Given the description of an element on the screen output the (x, y) to click on. 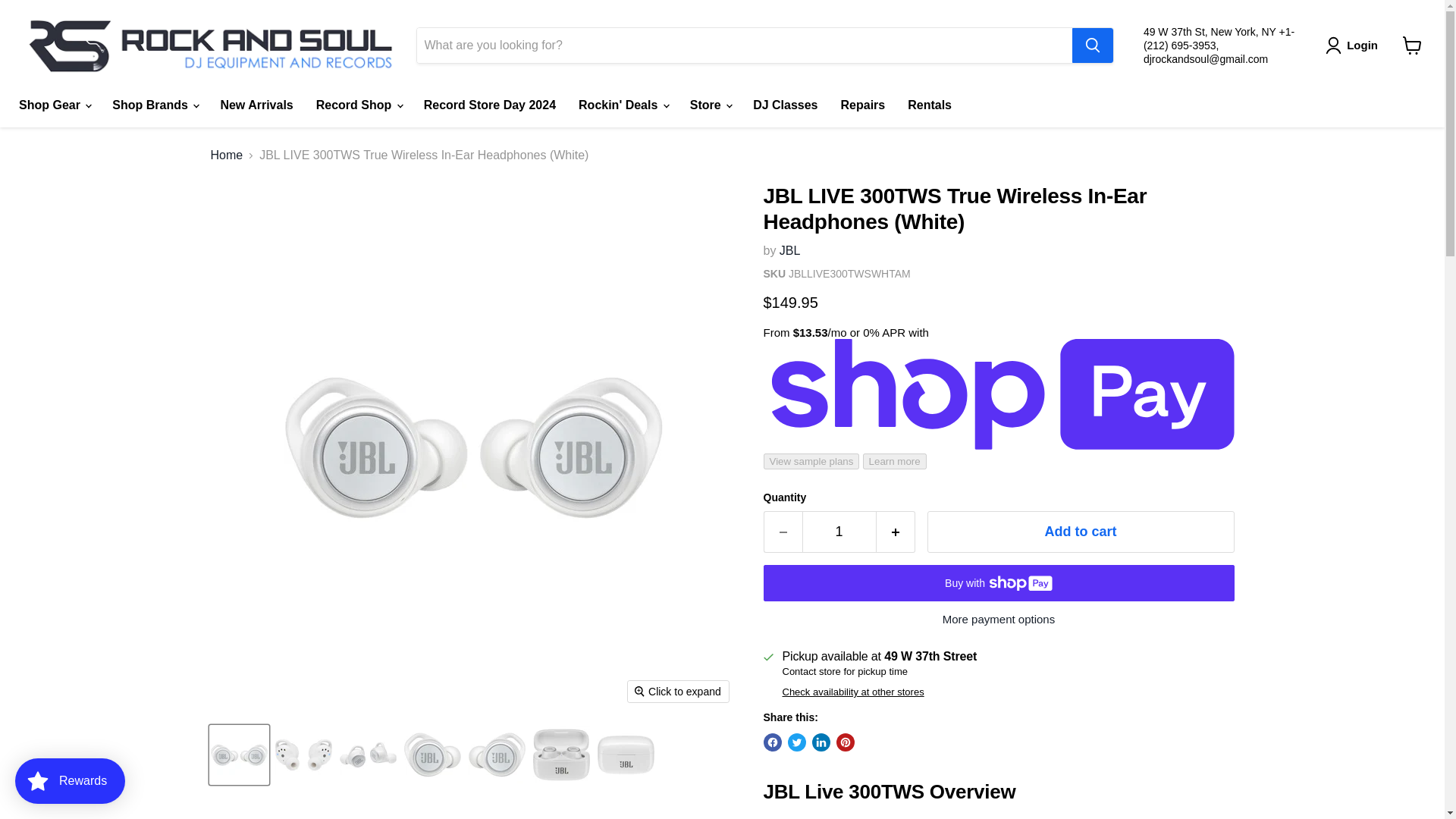
View cart (1411, 45)
JBL (789, 250)
Login (1354, 45)
1 (839, 531)
